Given the description of an element on the screen output the (x, y) to click on. 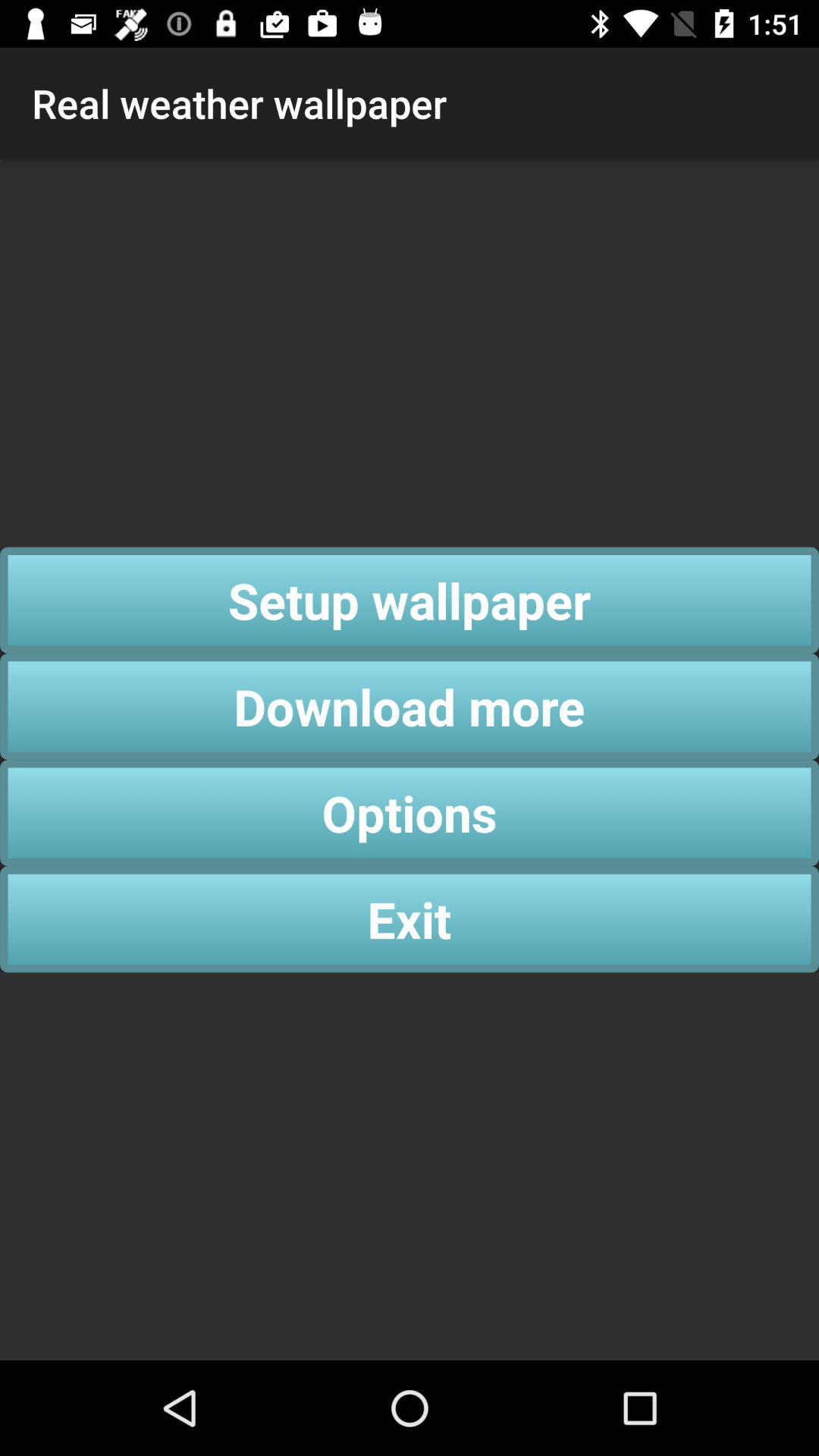
open exit (409, 919)
